Given the description of an element on the screen output the (x, y) to click on. 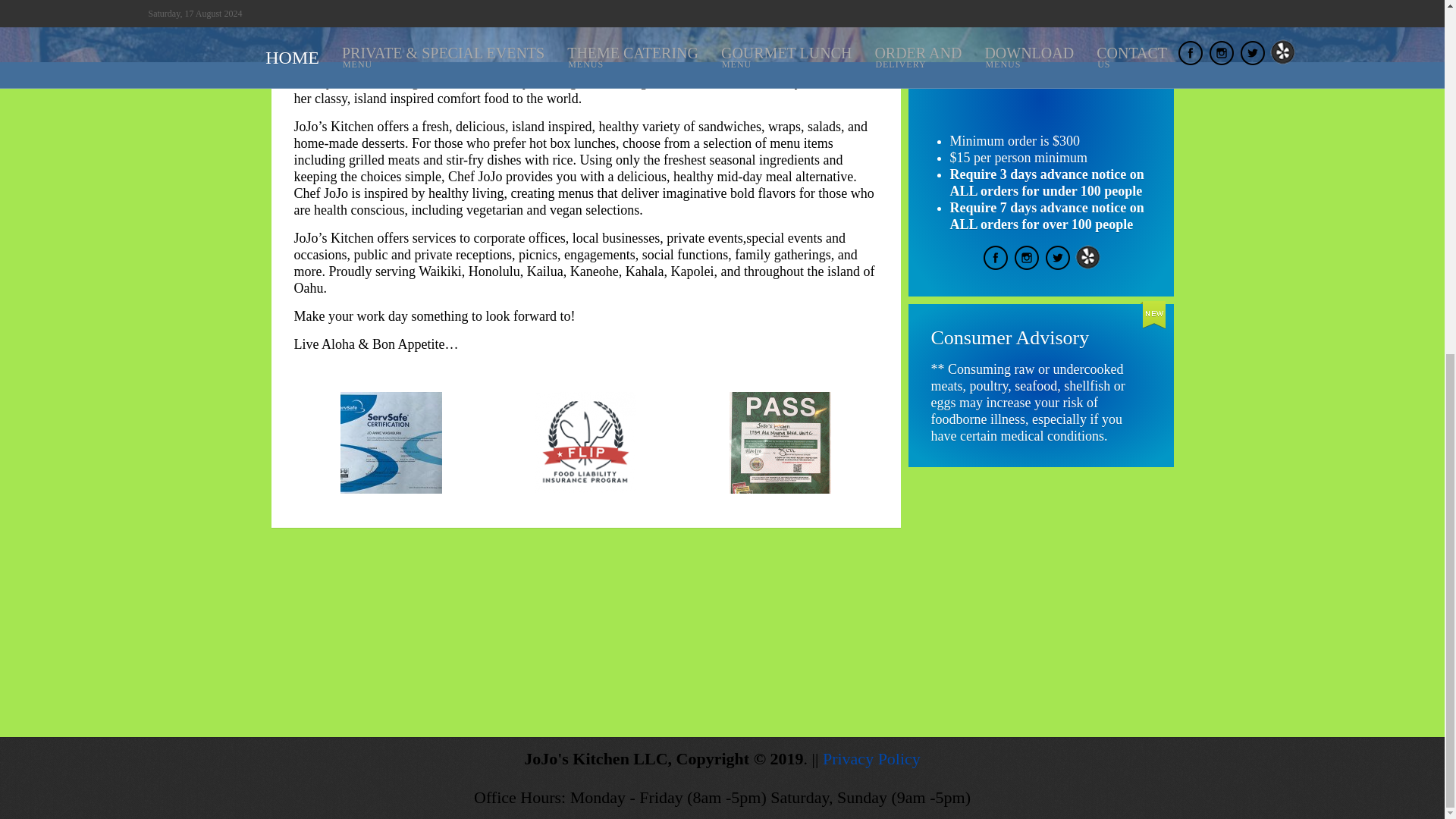
JoJo's Kitchen on Facebook (995, 264)
Follow JoJo's Kitchen on Twitter (1057, 264)
Visit JoJo's Kitchen on Instagram (1026, 264)
Read our Reviews on Yelp (1088, 264)
Jojo's Kitchen Green Pass (733, 442)
Jojo's Kitchen Food Liability Insurance (538, 442)
Jojo's Kitchen Blue Certificate (345, 442)
